Given the description of an element on the screen output the (x, y) to click on. 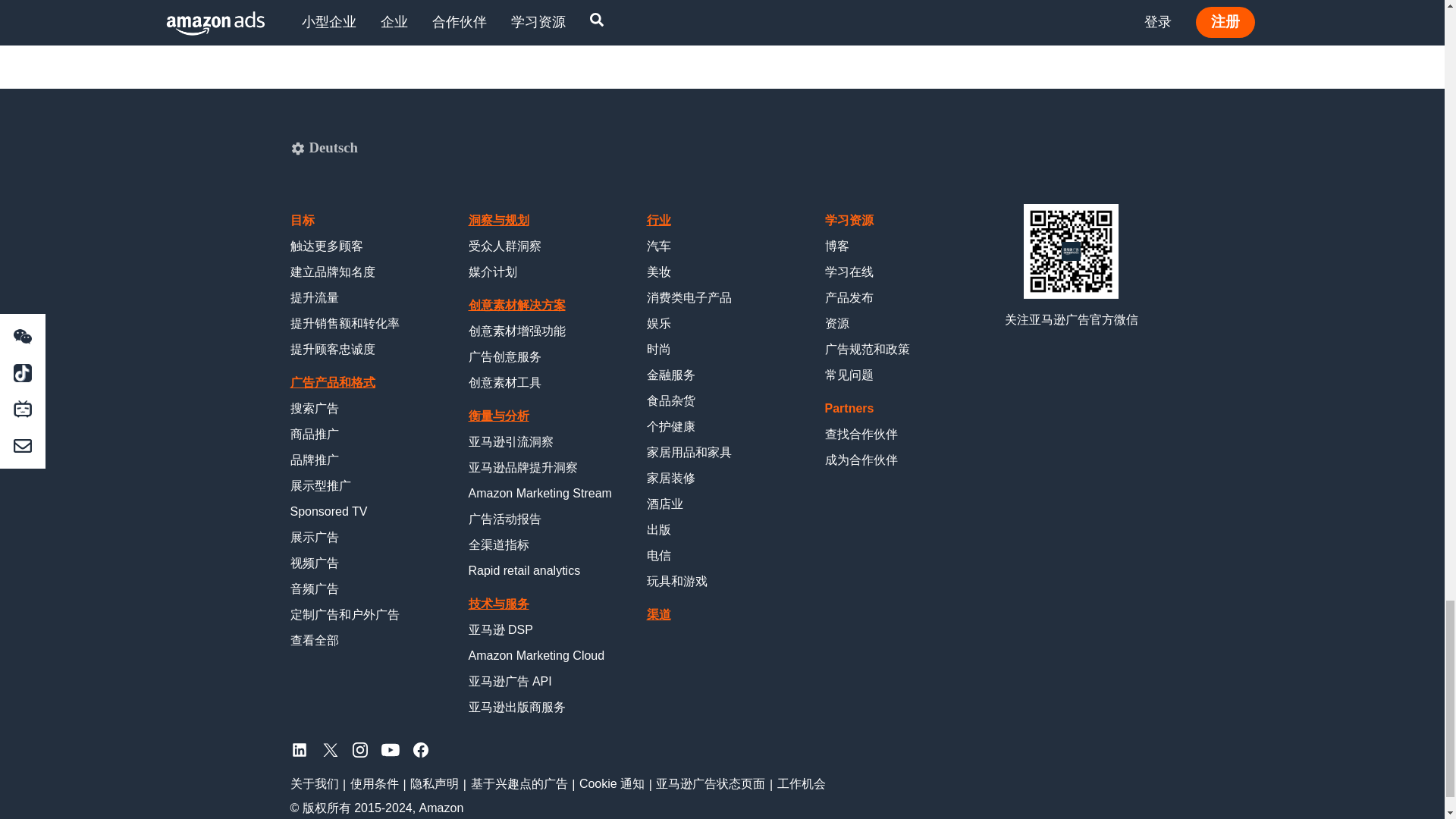
twitter (328, 749)
instagram (359, 749)
youtube (389, 749)
facebook (419, 749)
LinkedIn (298, 749)
